Given the description of an element on the screen output the (x, y) to click on. 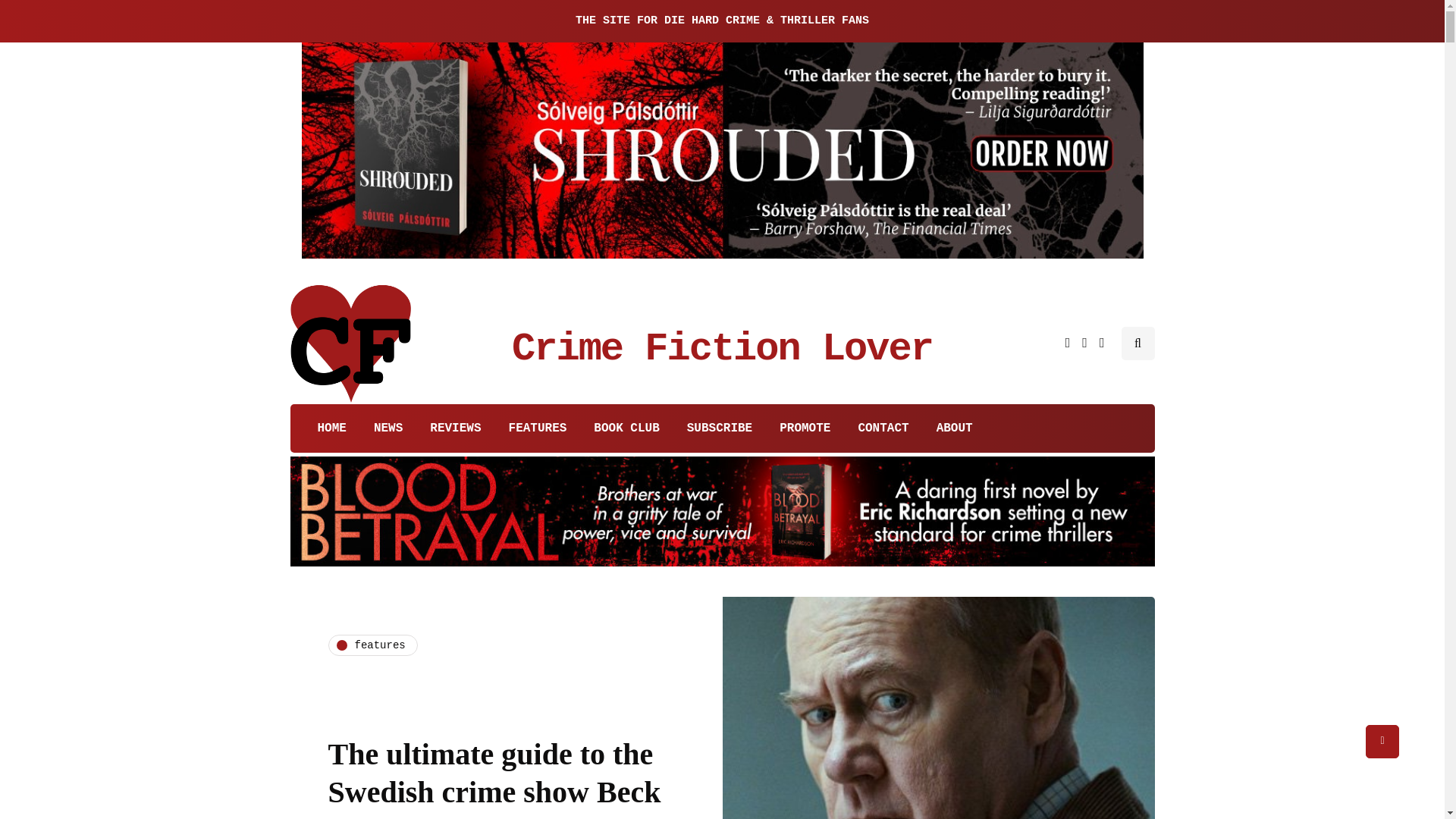
FEATURES (537, 428)
SUBSCRIBE (718, 428)
CONTACT (882, 428)
PROMOTE (804, 428)
features (371, 645)
BOOK CLUB (625, 428)
ABOUT (955, 428)
HOME (324, 428)
NEWS (387, 428)
REVIEWS (455, 428)
